Given the description of an element on the screen output the (x, y) to click on. 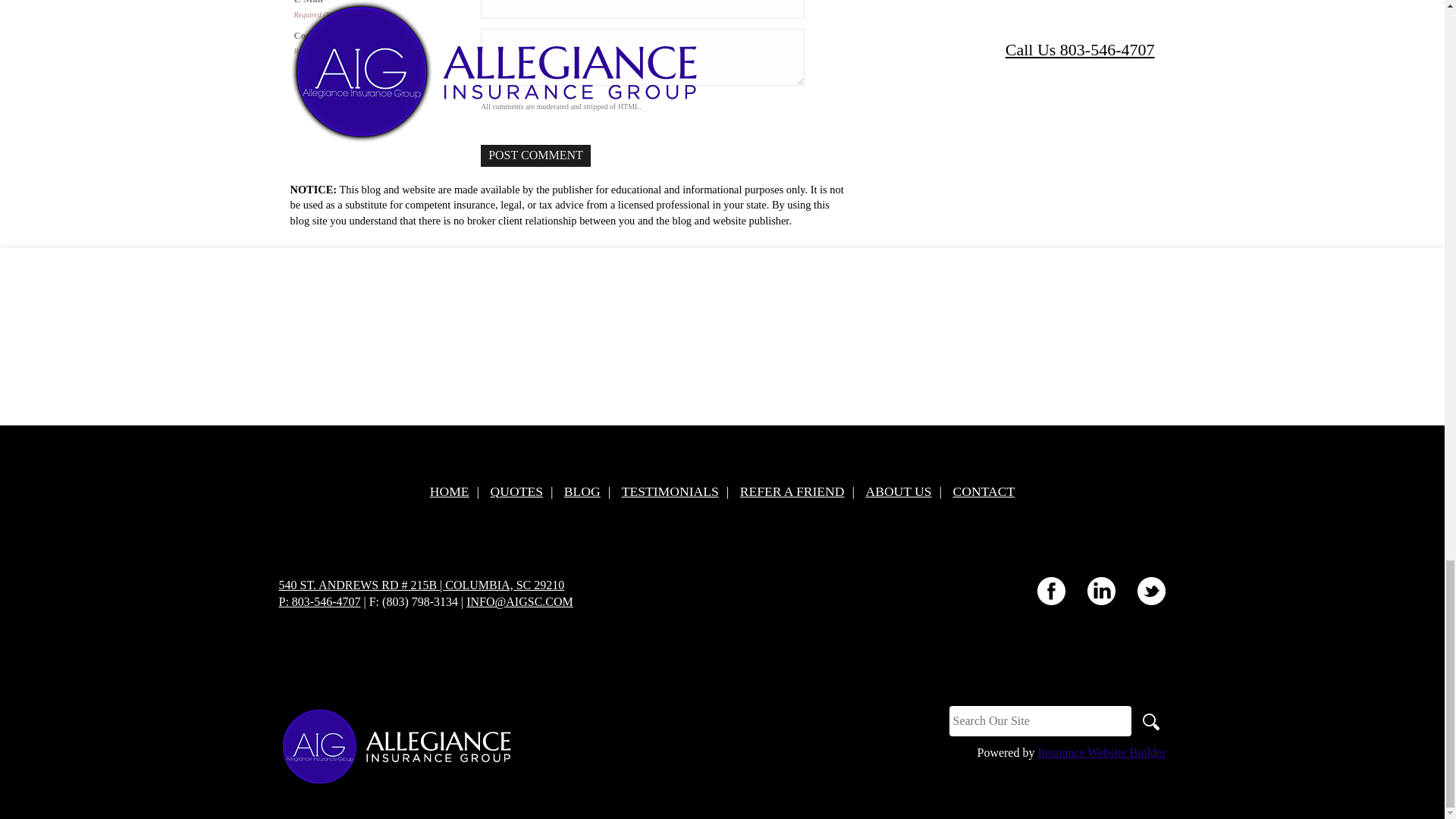
Post Comment (535, 155)
